Given the description of an element on the screen output the (x, y) to click on. 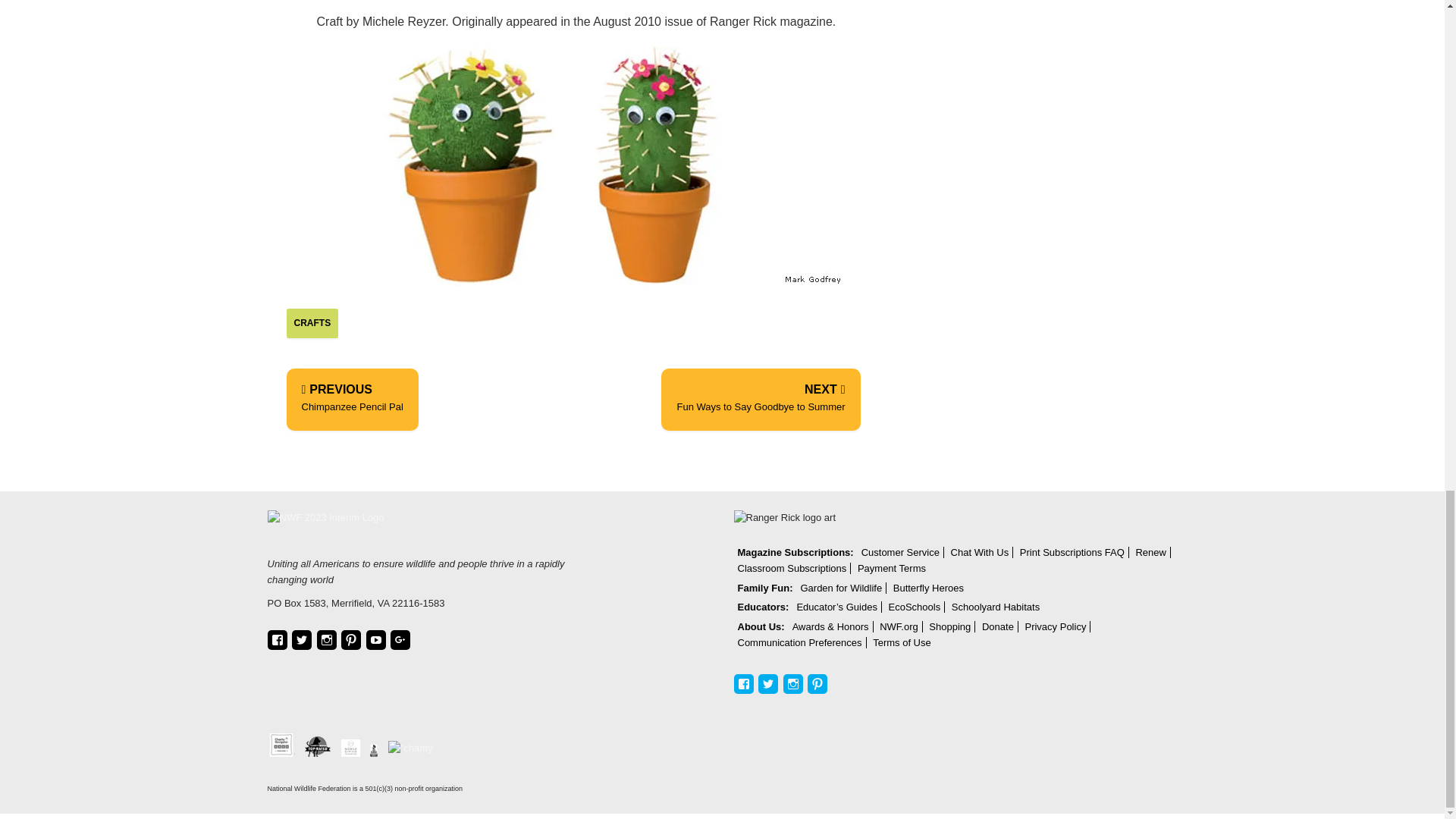
CRAFTS (760, 399)
